Given the description of an element on the screen output the (x, y) to click on. 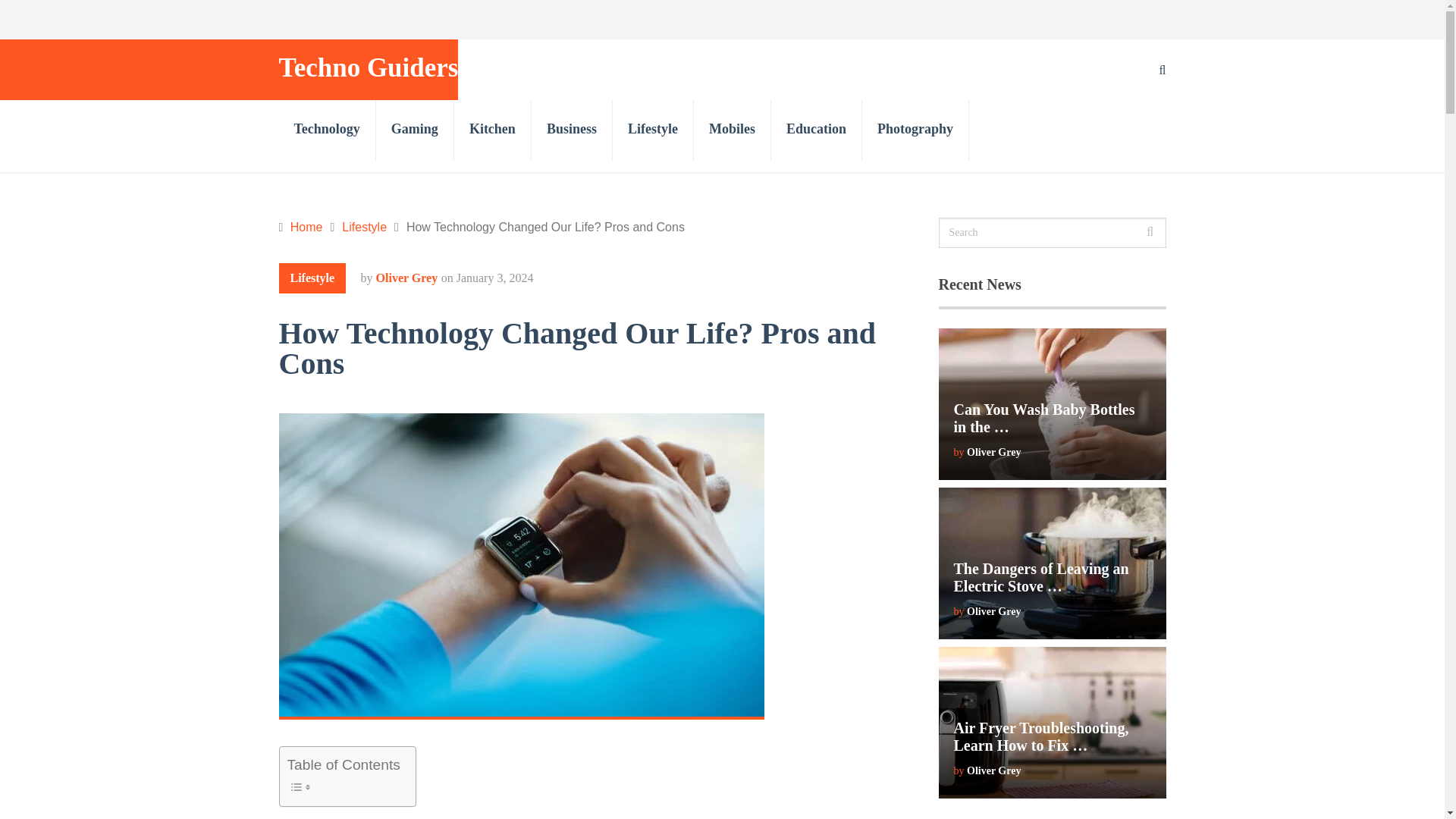
Oliver Grey (993, 451)
Oliver Grey (993, 770)
Posts by Oliver Grey (406, 277)
Lifestyle (364, 226)
Lifestyle (653, 129)
Education (816, 129)
Gaming (414, 129)
View all posts in Lifestyle (312, 277)
Mobiles (732, 129)
Kitchen (492, 129)
